Given the description of an element on the screen output the (x, y) to click on. 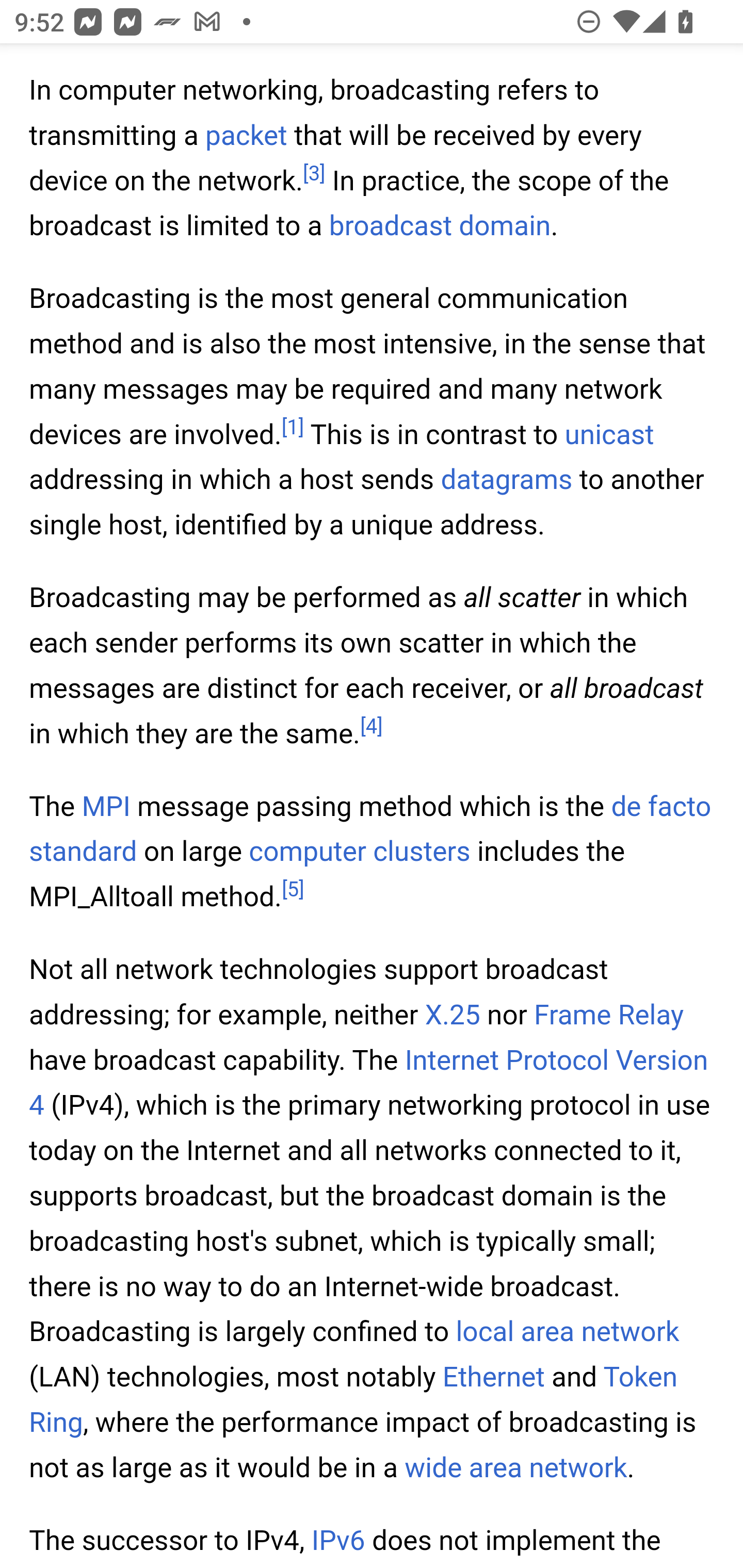
packet (246, 136)
[] [ 3 ] (313, 172)
broadcast domain (440, 226)
[] [ 1 ] (291, 426)
unicast (609, 434)
datagrams (507, 479)
[] [ 4 ] (371, 726)
de facto standard (370, 828)
MPI (105, 805)
computer clusters (359, 851)
[] [ 5 ] (292, 890)
X.25 (452, 1015)
Frame Relay (608, 1015)
Internet Protocol Version 4 (368, 1082)
local area network (567, 1332)
Token Ring (353, 1400)
Ethernet (492, 1378)
wide area network (516, 1467)
IPv6 (338, 1540)
